Given the description of an element on the screen output the (x, y) to click on. 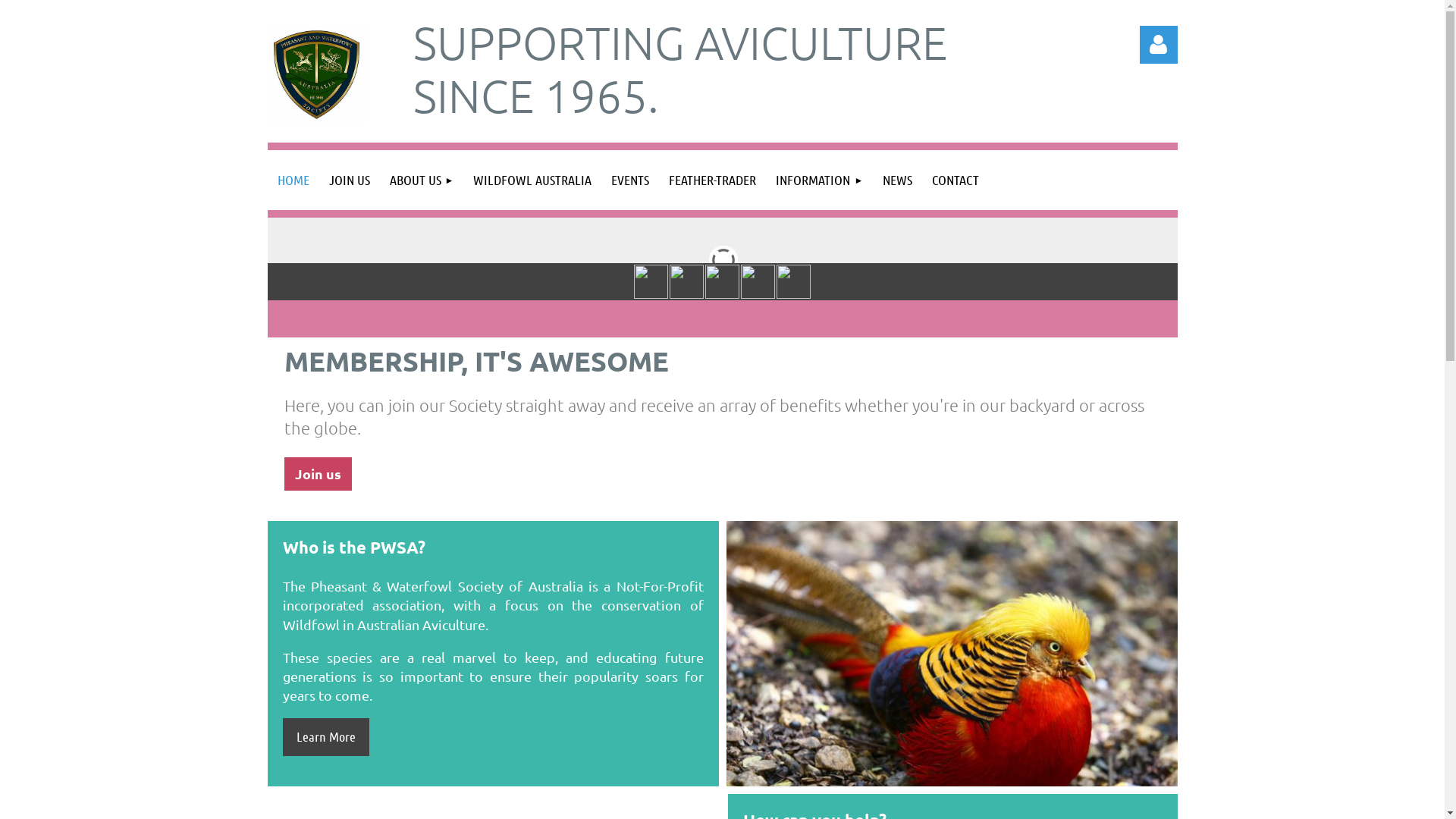
Log in Element type: text (1157, 44)
EVENTS Element type: text (629, 180)
FEATHER-TRADER Element type: text (711, 180)
NEWS Element type: text (897, 180)
HOME Element type: text (292, 180)
Learn More Element type: text (325, 737)
INFORMATION Element type: text (818, 180)
ABOUT US Element type: text (421, 180)
WILDFOWL AUSTRALIA Element type: text (532, 180)
Join us Element type: text (317, 473)
JOIN US Element type: text (348, 180)
CONTACT Element type: text (955, 180)
